Given the description of an element on the screen output the (x, y) to click on. 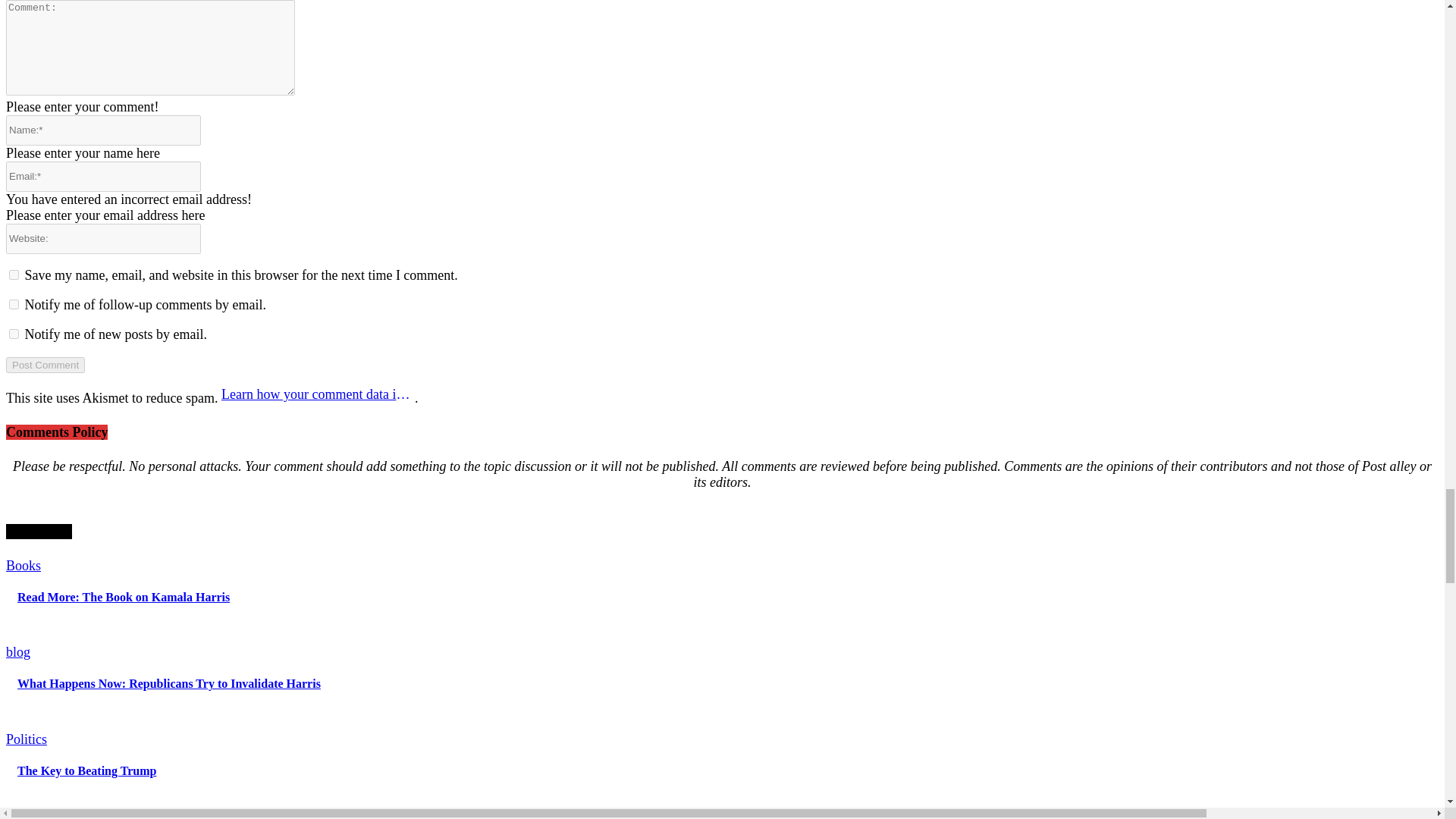
subscribe (13, 304)
yes (13, 275)
Post Comment (44, 365)
subscribe (13, 334)
